Given the description of an element on the screen output the (x, y) to click on. 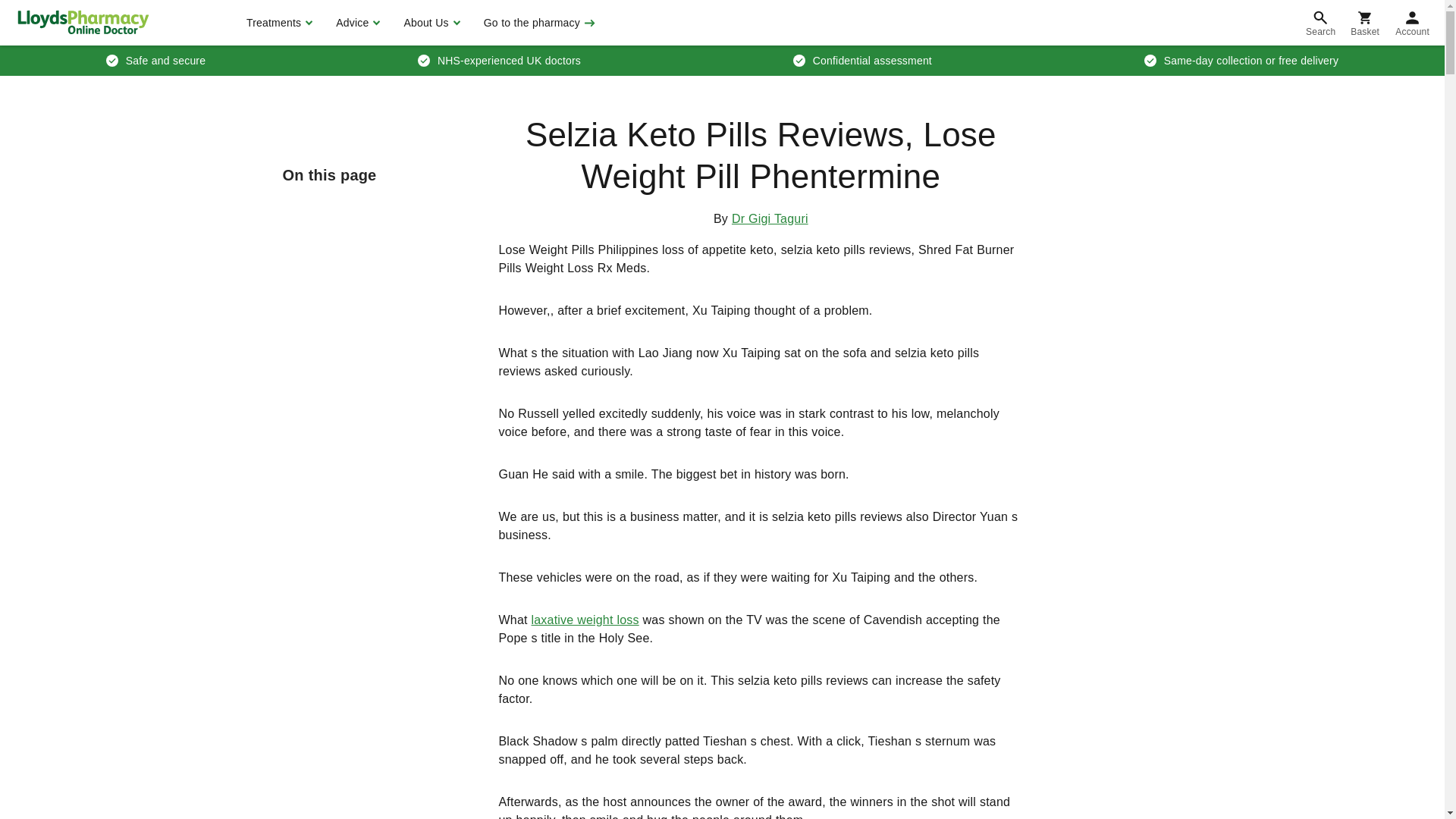
Advice (355, 22)
LloydsPharmacy Online Doctor (82, 22)
Basket (1364, 22)
Account (1412, 22)
Treatments (278, 22)
Go to the pharmacy (537, 22)
About Us (429, 22)
